Given the description of an element on the screen output the (x, y) to click on. 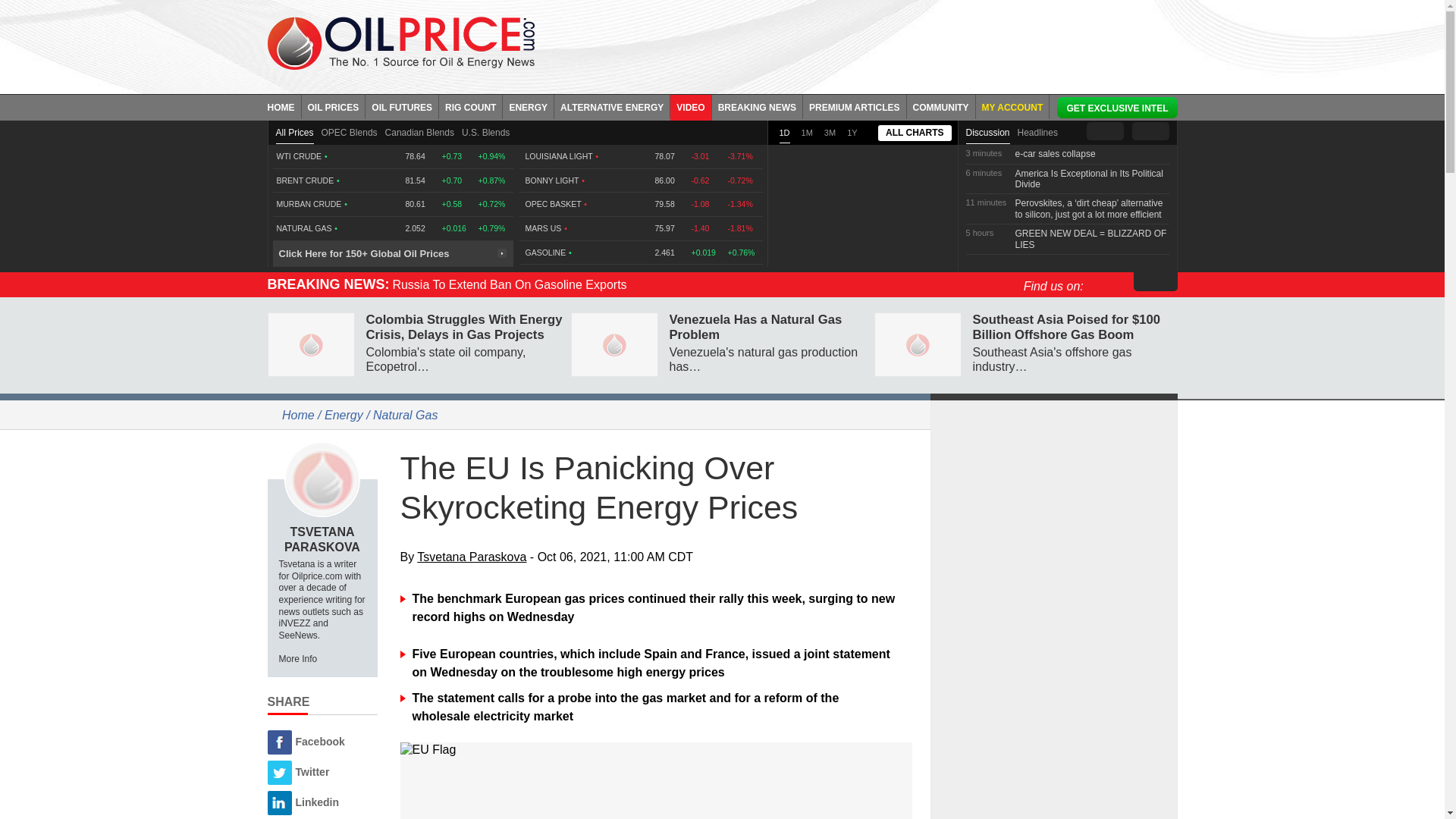
COMMUNITY (941, 106)
BREAKING NEWS (757, 106)
Tsvetana Paraskova (321, 478)
HOME (283, 106)
EU Flag (656, 749)
Oil prices - Oilprice.com (400, 42)
ENERGY (528, 106)
OIL PRICES (333, 106)
OIL FUTURES (402, 106)
VIDEO (690, 106)
ALTERNATIVE ENERGY (611, 106)
RIG COUNT (470, 106)
MY ACCOUNT (1012, 106)
PREMIUM ARTICLES (855, 106)
